Given the description of an element on the screen output the (x, y) to click on. 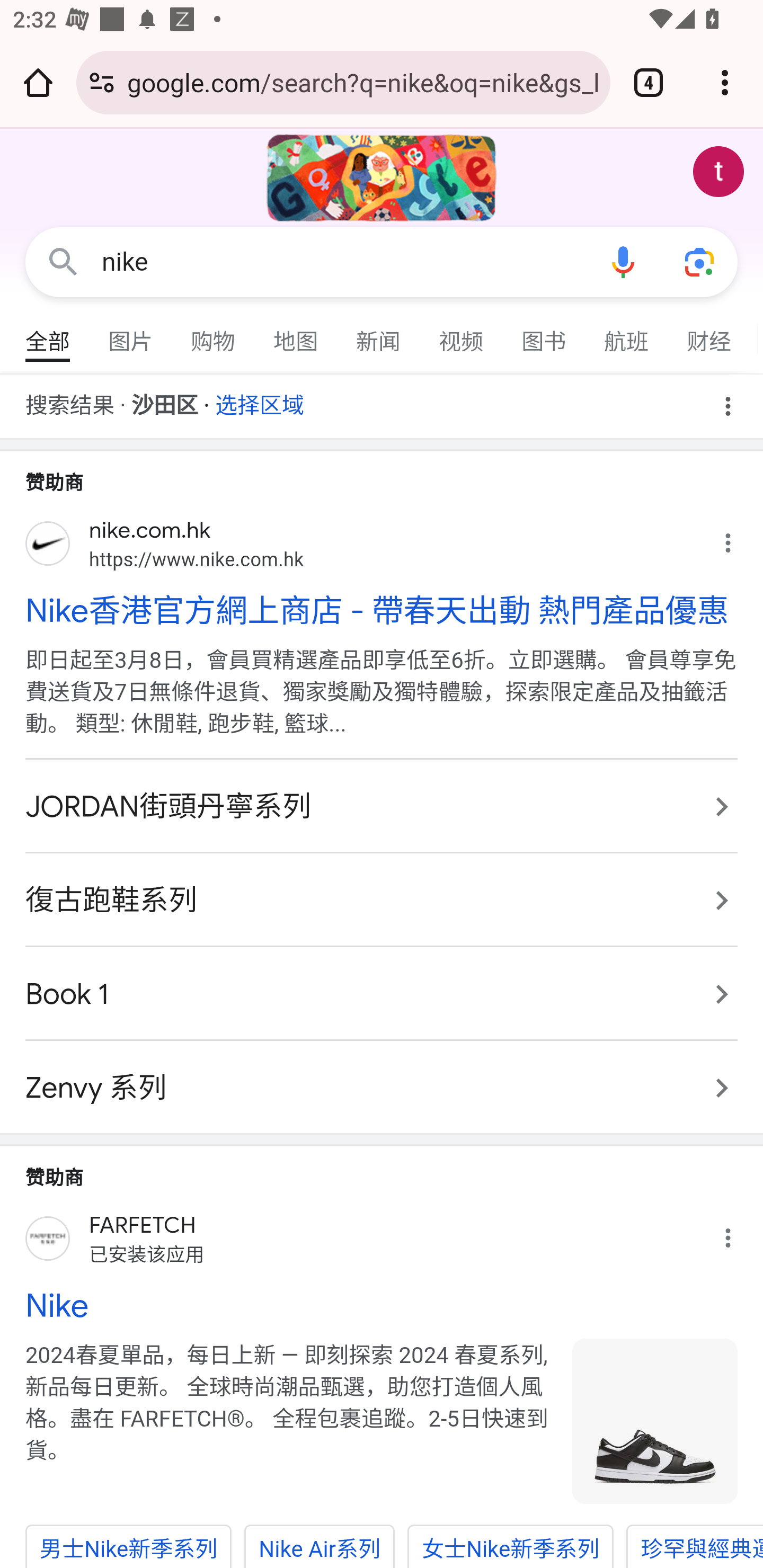
Open the home page (38, 82)
Connection is secure (101, 82)
Switch or close tabs (648, 82)
Customize and control Google Chrome (724, 82)
2024 年国际妇女节 (381, 177)
Google 账号： test appium (testappium002@gmail.com) (718, 171)
Google 搜索 (63, 262)
使用拍照功能或照片进行搜索 (699, 262)
nike (343, 261)
图片 (131, 333)
购物 (213, 333)
地图 (296, 333)
新闻 (379, 333)
视频 (461, 333)
图书 (544, 333)
航班 (627, 333)
财经 (709, 333)
选择区域 (259, 399)
为什么会显示该广告？ (738, 538)
Nike香港官方網上商店 - 帶春天出動 熱門產品優惠 (381, 609)
JORDAN街頭丹寧系列 (381, 805)
復古跑鞋系列 (381, 899)
Book 1 (381, 994)
Zenvy 系列 (381, 1077)
赞助商 FARFETCH 已安装该应用 Nike 赞助商 FARFETCH 已安装该应用 Nike (381, 1244)
为什么会显示该广告？ (738, 1233)
Nike (381, 1306)
图片来自 farfetch.com (654, 1421)
男士Nike新季系列 (128, 1546)
Nike Air系列 (319, 1546)
女士Nike新季系列 (510, 1546)
珍罕與經典運動鞋 (694, 1546)
